Given the description of an element on the screen output the (x, y) to click on. 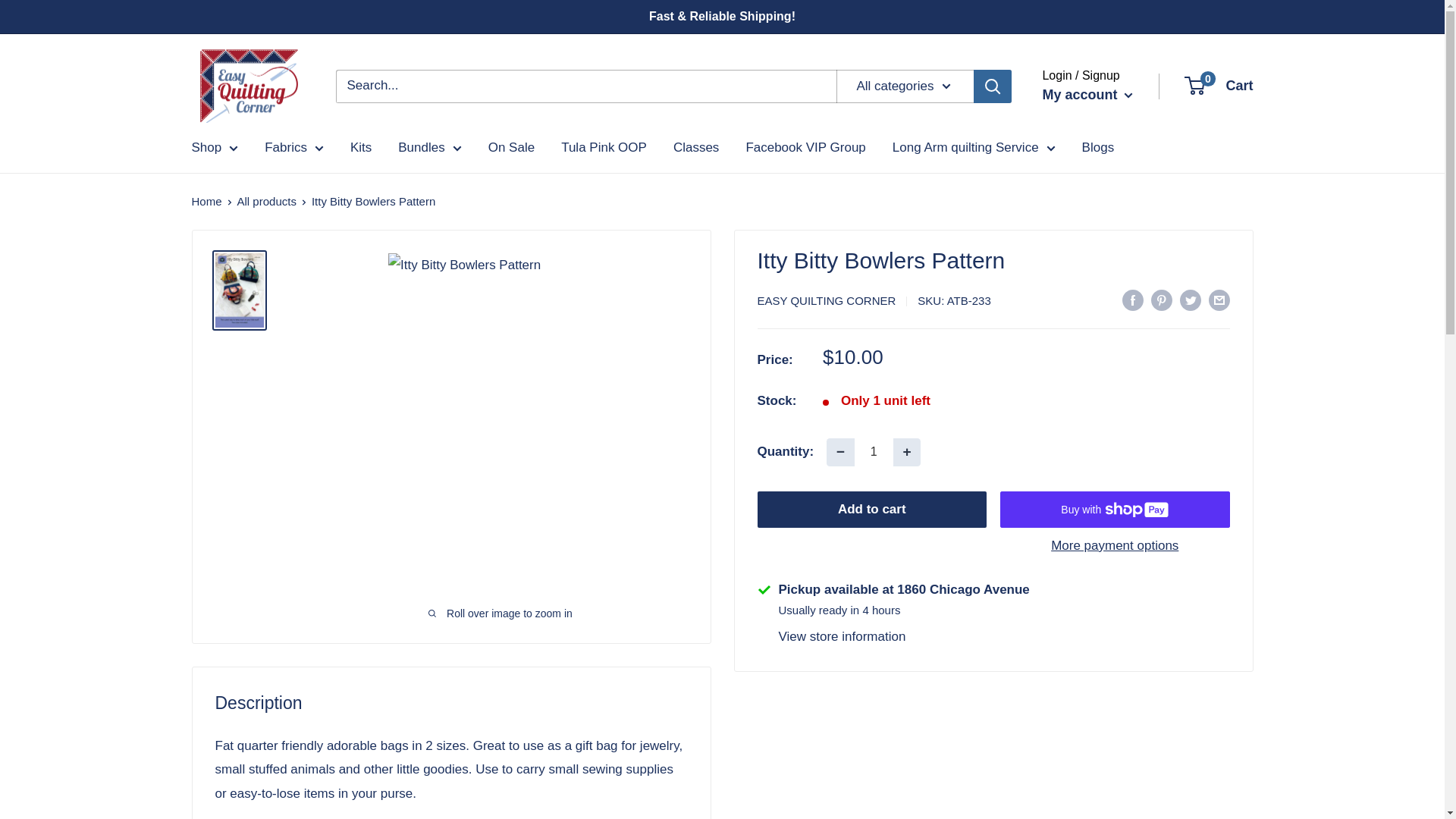
Decrease Quantity (840, 452)
1 (873, 452)
Increase Quantity (907, 452)
